Given the description of an element on the screen output the (x, y) to click on. 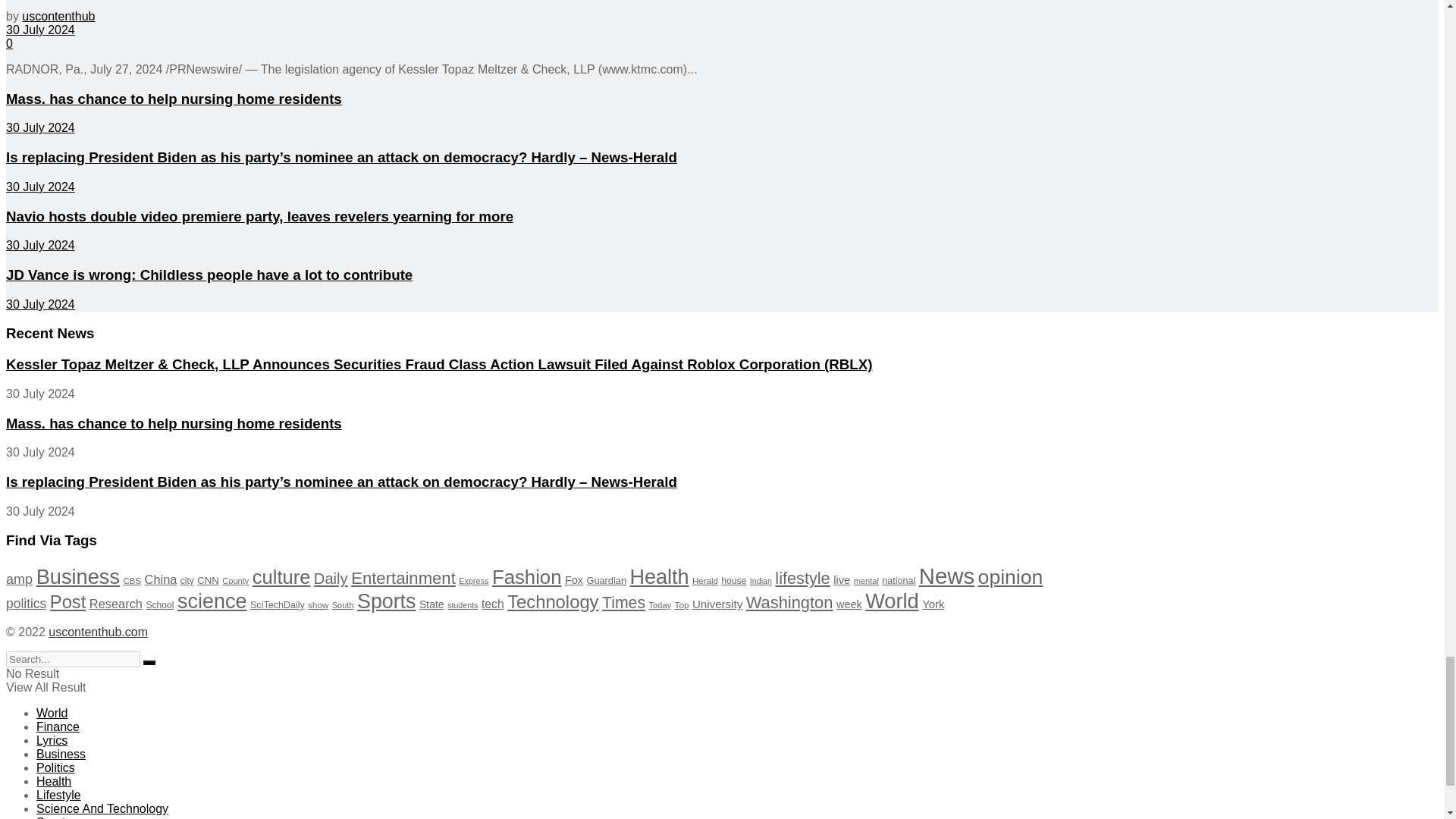
Premium news  (98, 631)
